Given the description of an element on the screen output the (x, y) to click on. 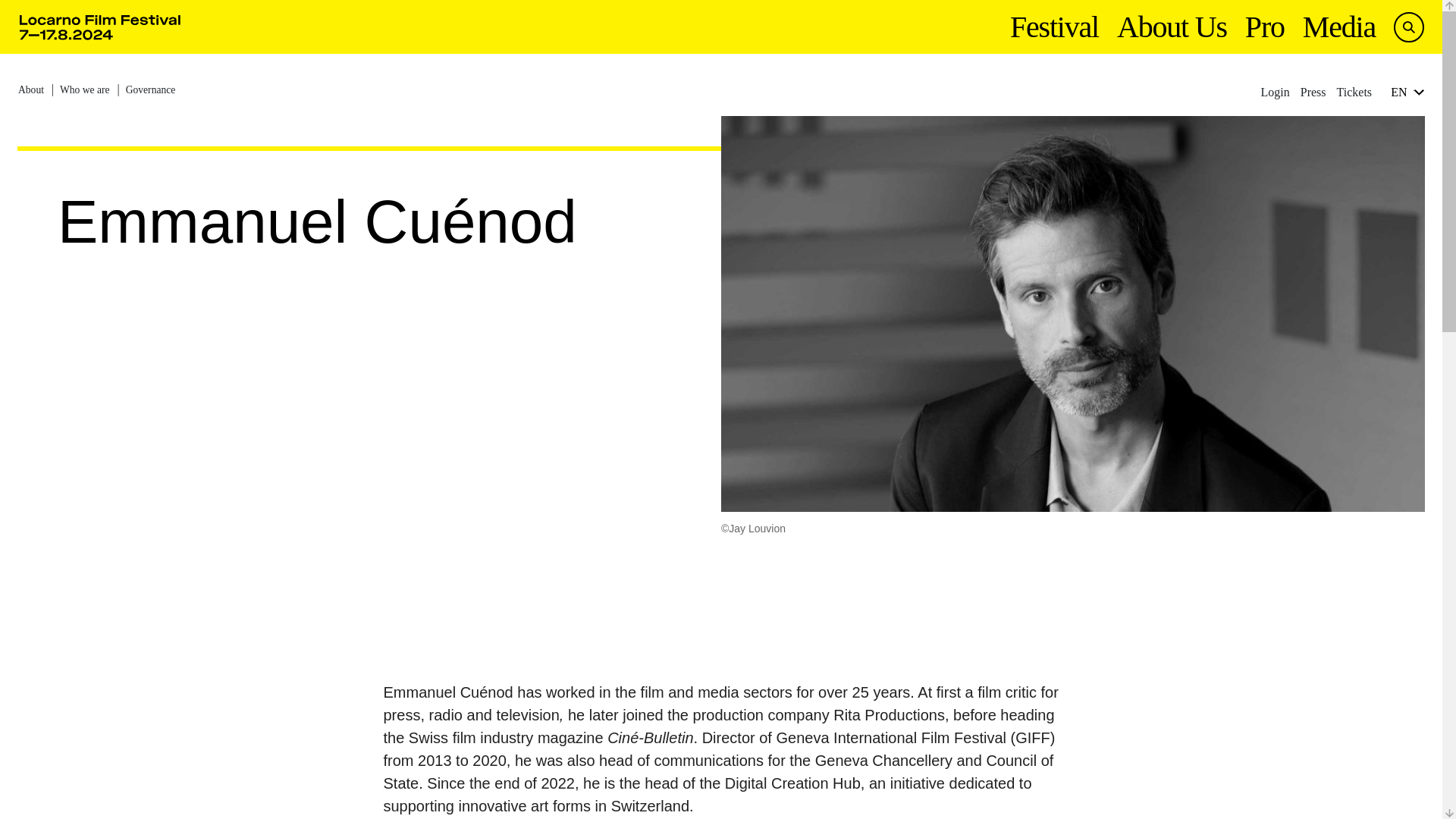
home (99, 27)
